Given the description of an element on the screen output the (x, y) to click on. 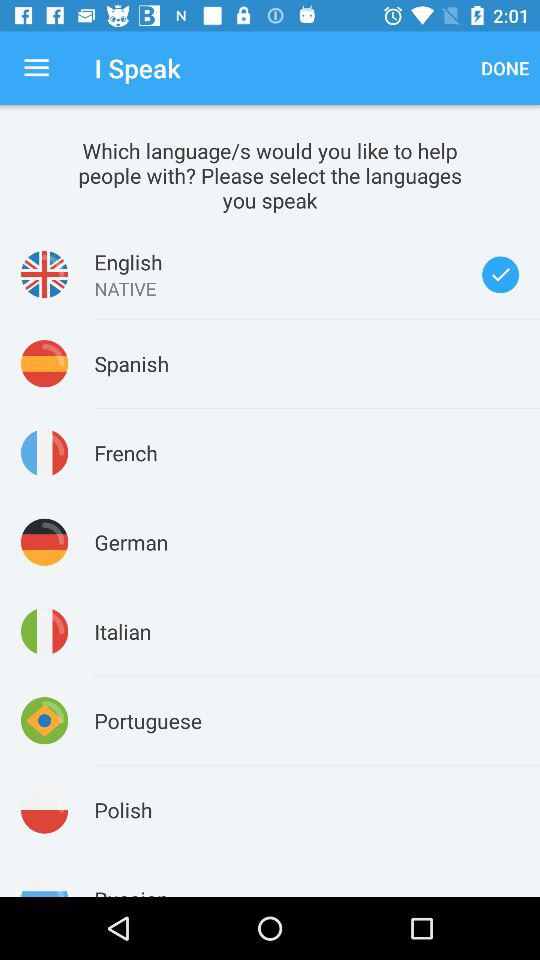
turn off app next to the i speak app (36, 68)
